Given the description of an element on the screen output the (x, y) to click on. 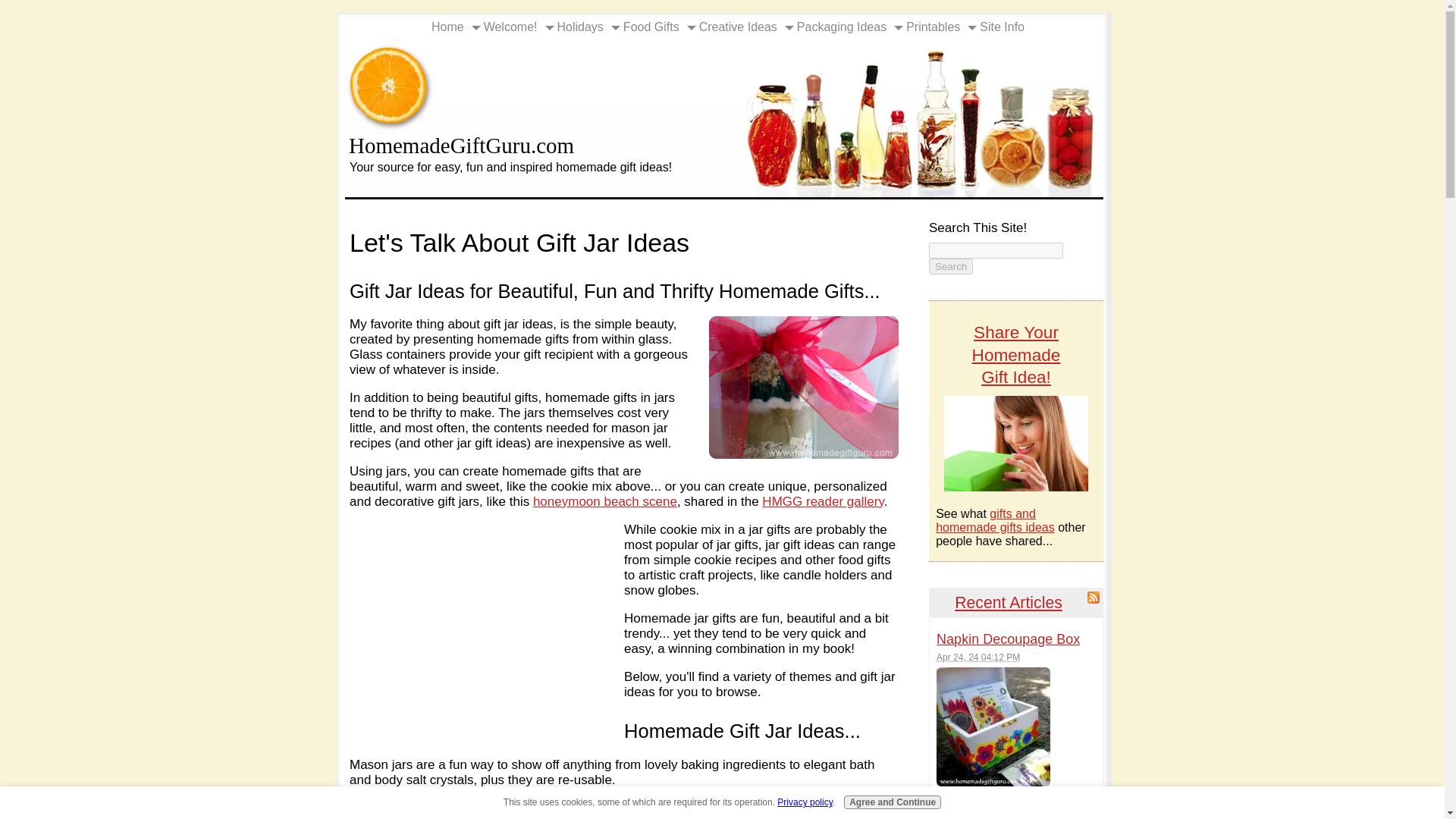
Search (950, 266)
Go to Homemade Gift Ideas from Readers (1015, 486)
2024-04-24T16:12:28-0400 (978, 656)
Home (443, 26)
HomemadeGiftGuru.com (461, 145)
Share your own homemade and handmade gift ideas here! (1015, 443)
Advertisement (486, 621)
